Given the description of an element on the screen output the (x, y) to click on. 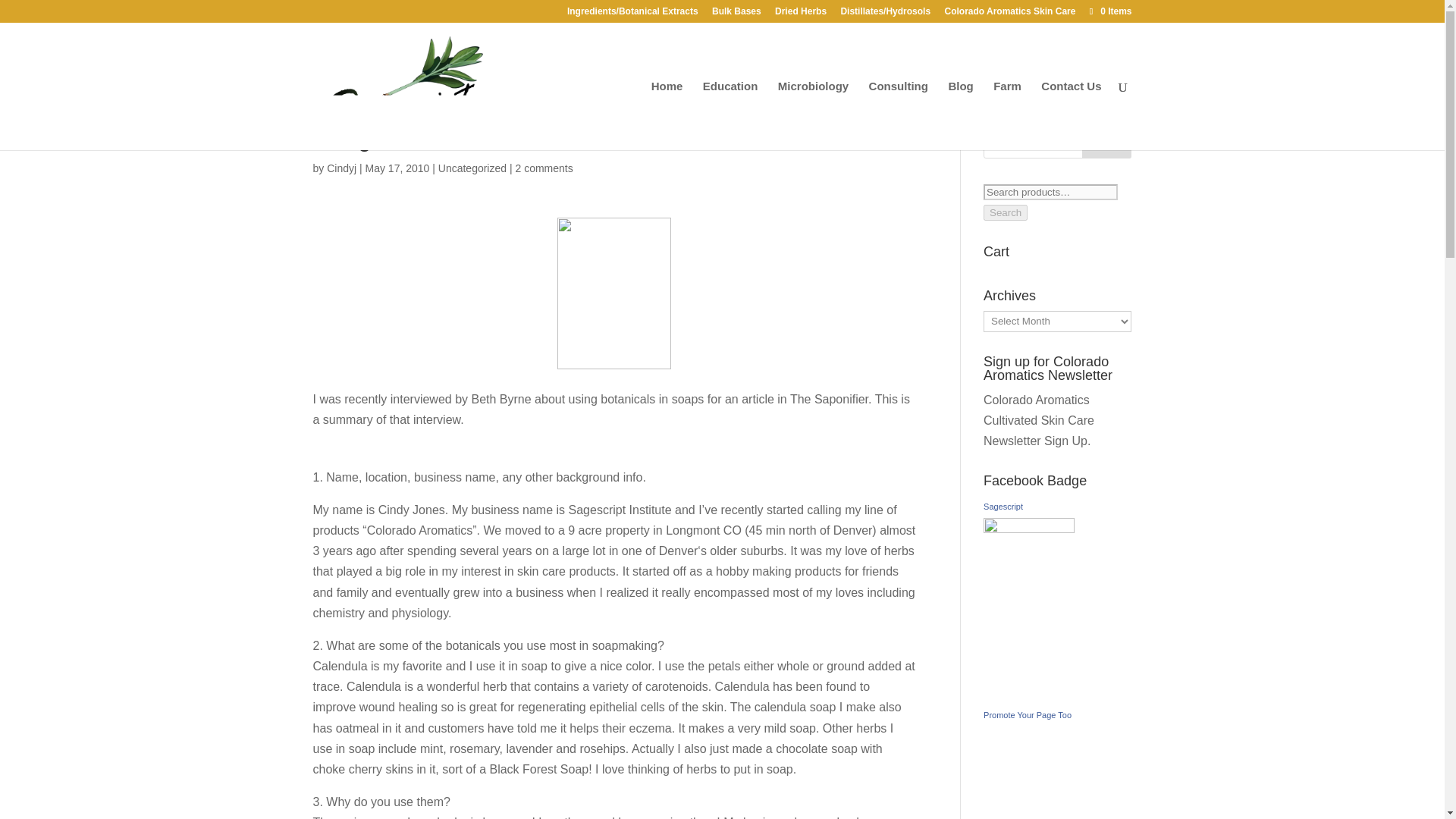
Colorado Aromatics Cultivated Skin Care Newsletter Sign Up. (1039, 420)
Dried Herbs (800, 14)
0 Items (1108, 10)
Cindyj (341, 168)
Sagescript (1003, 506)
Bulk Bases (736, 14)
Sagescript (1029, 528)
Search (1106, 142)
Search (1005, 212)
Colorado Aromatics Skin Care (1009, 14)
